Given the description of an element on the screen output the (x, y) to click on. 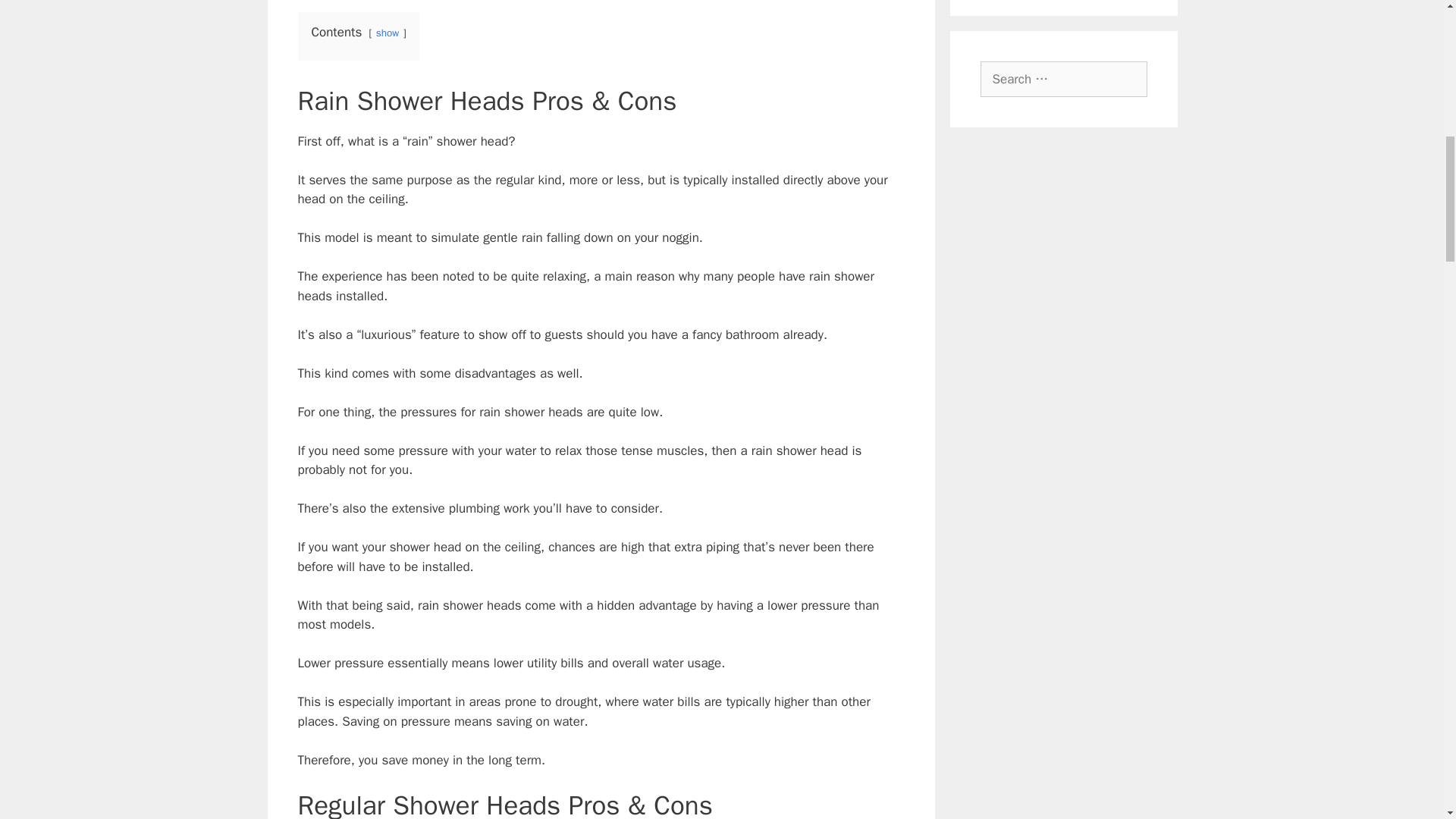
Search for: (1063, 78)
show (386, 32)
